Given the description of an element on the screen output the (x, y) to click on. 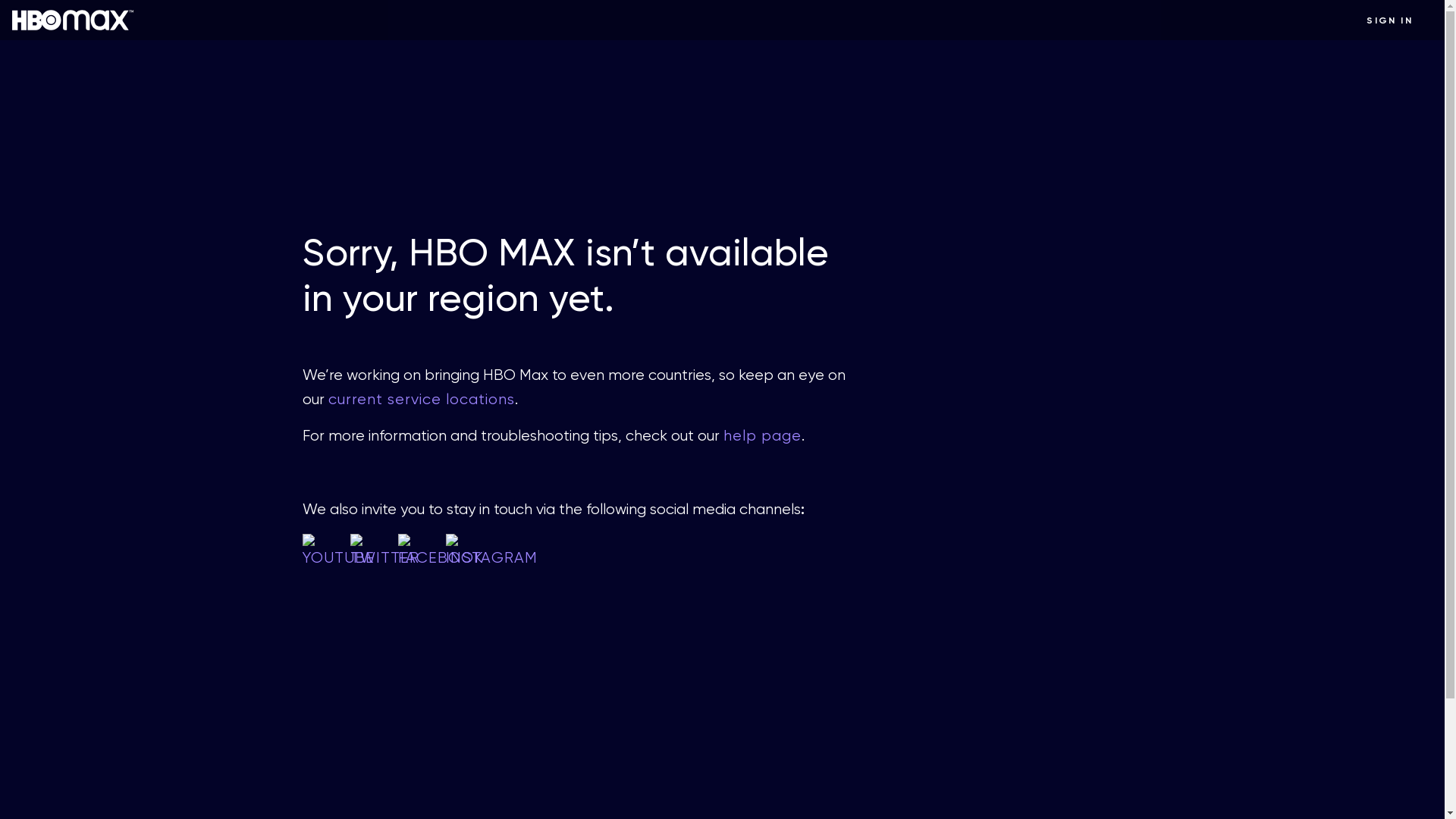
current service locations Element type: text (420, 398)
help page Element type: text (762, 434)
SIGN IN Element type: text (1389, 19)
